Given the description of an element on the screen output the (x, y) to click on. 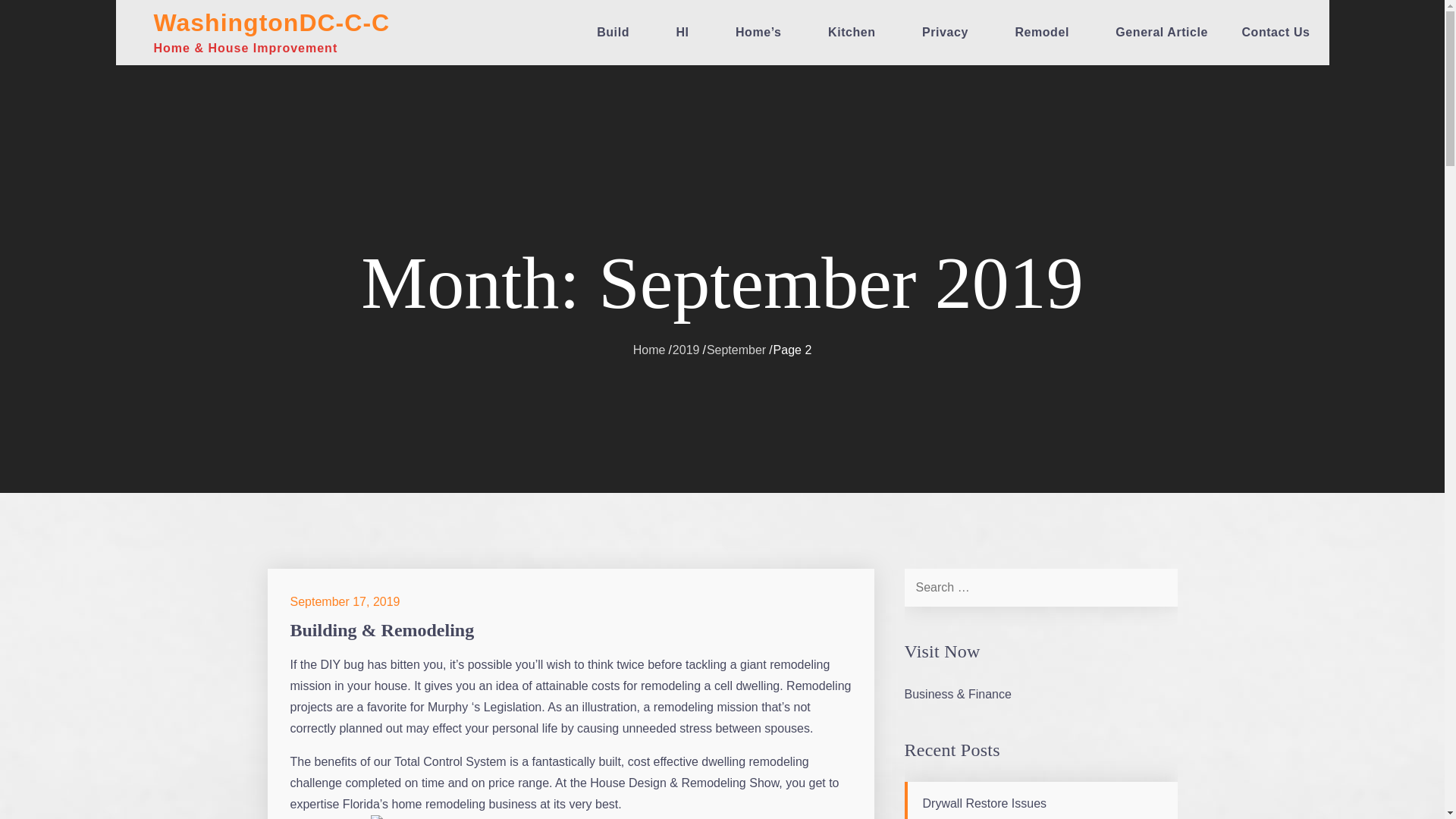
Contact Us (1274, 32)
Privacy (951, 32)
Remodel (1047, 32)
September (735, 349)
Build (619, 32)
General Article (1161, 32)
Kitchen (858, 32)
WashingtonDC-C-C (271, 22)
2019 (686, 349)
